Given the description of an element on the screen output the (x, y) to click on. 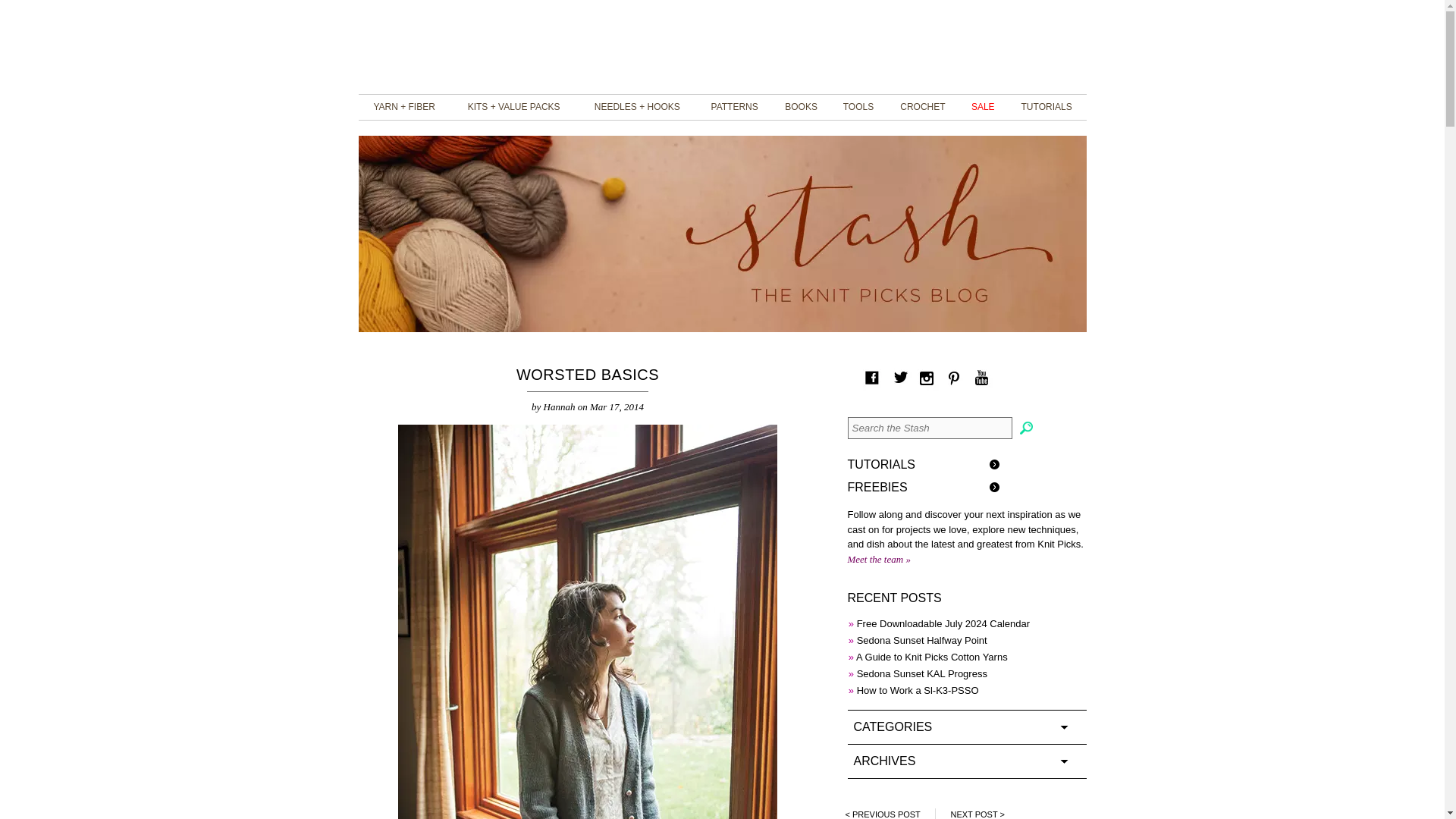
BOOKS (800, 107)
TOOLS (858, 107)
Knitting Kits and Knitting Samplers (514, 107)
PATTERNS (734, 107)
Knitting Yarn and Knitting Kits (403, 107)
The Knit Picks Staff Knitting Blog (722, 45)
